Given the description of an element on the screen output the (x, y) to click on. 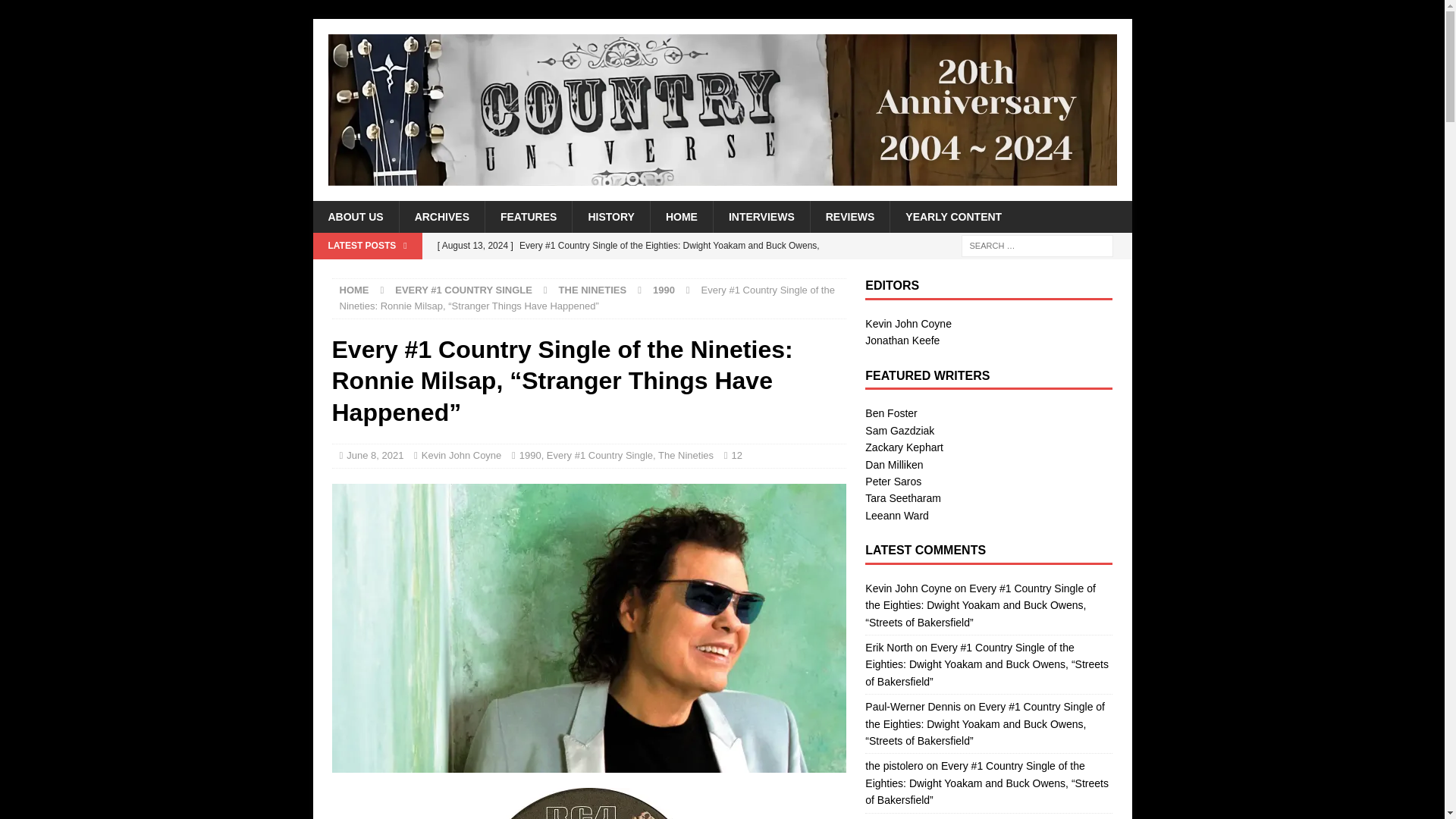
INTERVIEWS (761, 216)
ABOUT US (355, 216)
REVIEWS (849, 216)
HISTORY (610, 216)
12 (735, 455)
FEATURES (528, 216)
HOME (681, 216)
ARCHIVES (441, 216)
